Given the description of an element on the screen output the (x, y) to click on. 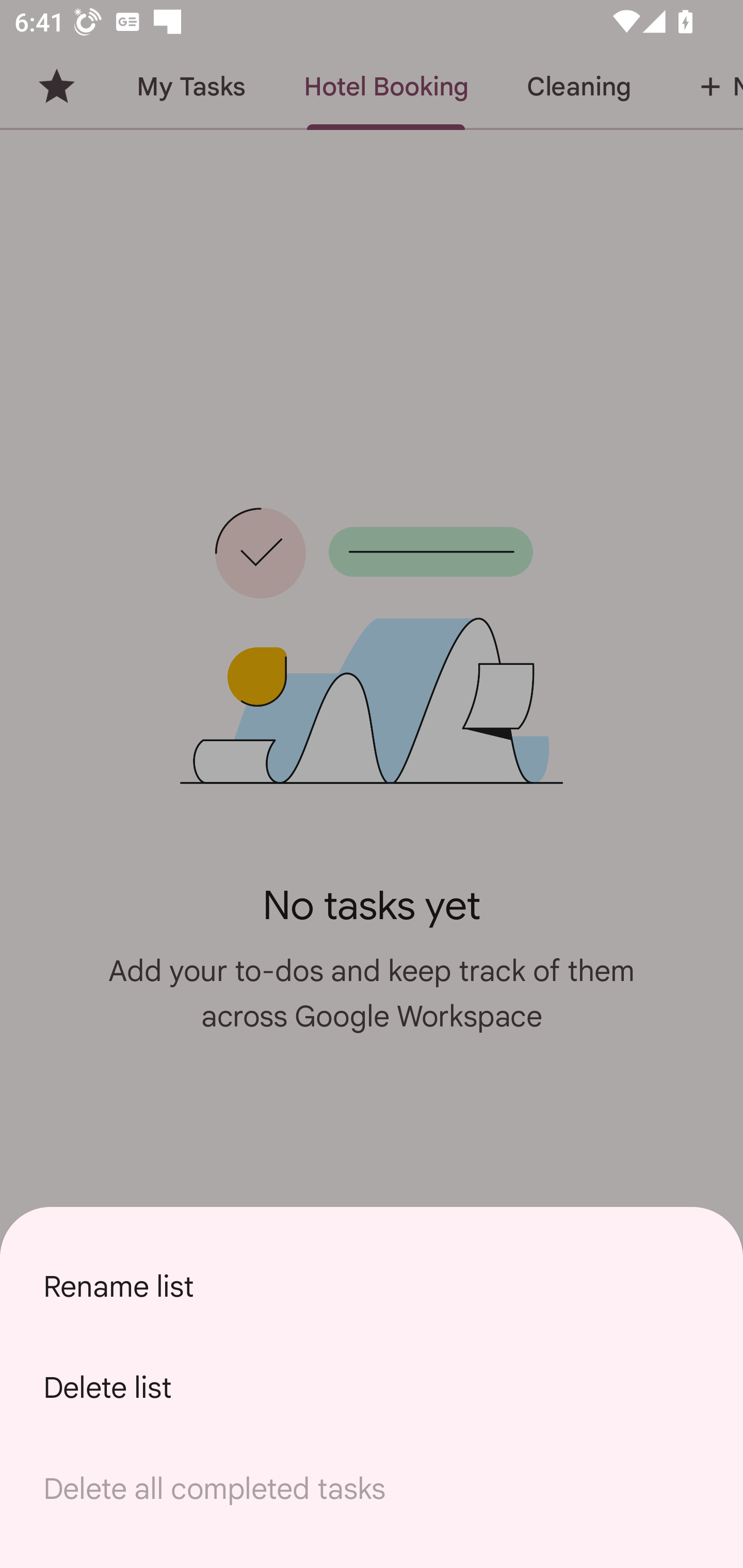
Rename list (371, 1286)
Delete list (371, 1387)
Delete all completed tasks (371, 1488)
